Given the description of an element on the screen output the (x, y) to click on. 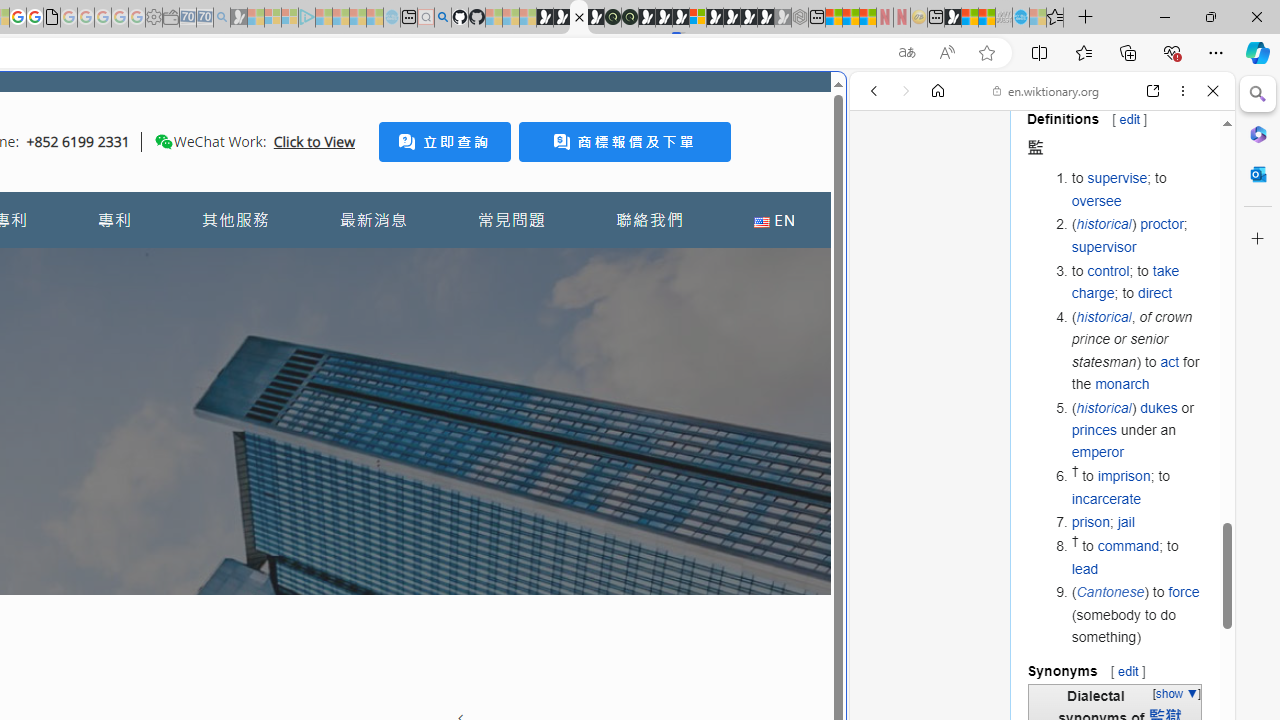
Navy Quest (1003, 17)
Search Filter, VIDEOS (1006, 228)
(Cantonese) to force(somebody to do something) (1137, 614)
oversee (1096, 200)
Services - Maintenance | Sky Blue Bikes - Sky Blue Bikes (1020, 17)
supervise (1117, 178)
Cantonese (1110, 592)
